Given the description of an element on the screen output the (x, y) to click on. 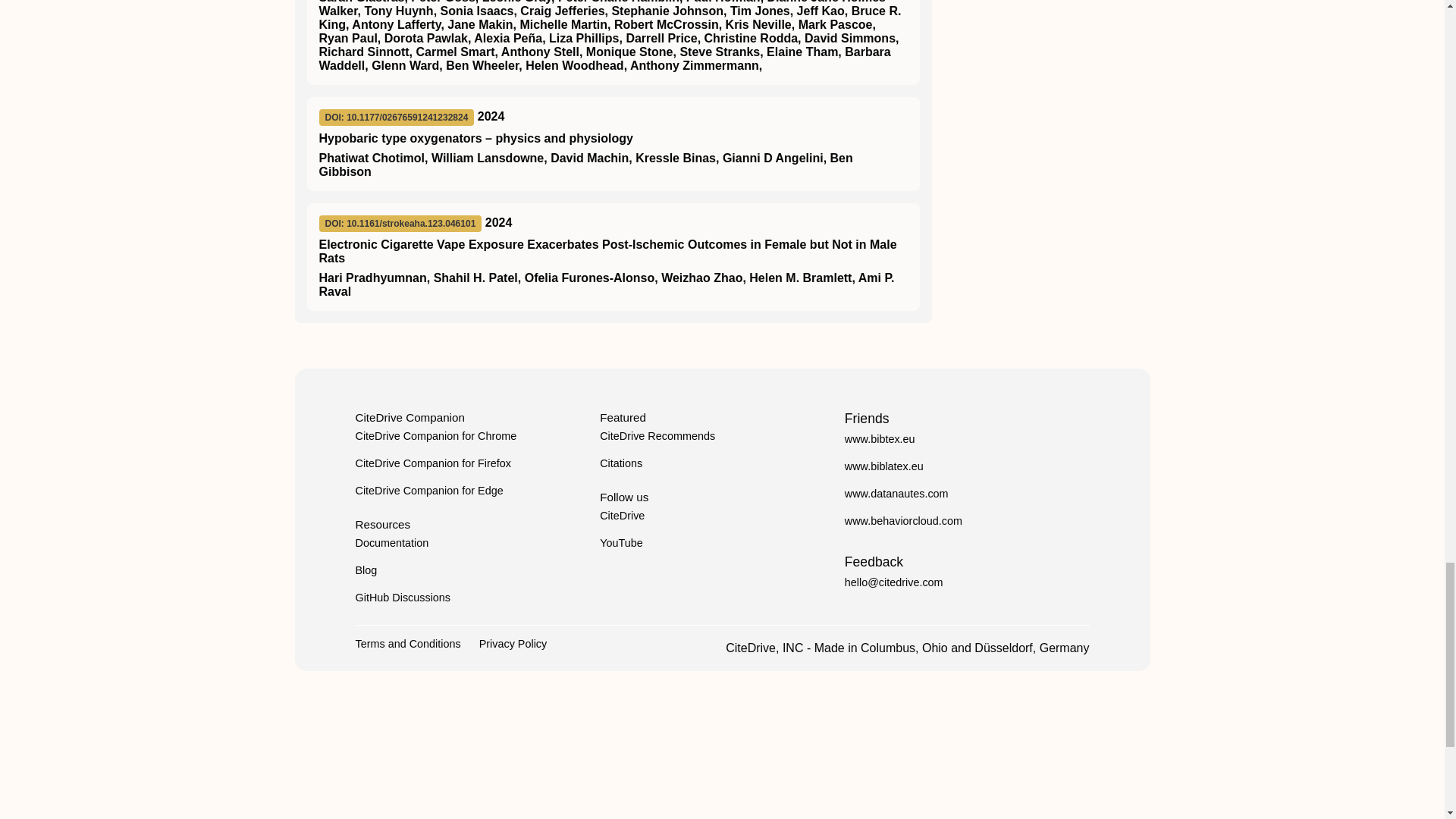
CiteDrive Companion for Edge (428, 490)
CiteDrive Companion for Firefox (433, 463)
CiteDrive (622, 515)
Documentation (391, 542)
CiteDrive Companion for Chrome (435, 435)
Blog (366, 570)
www.bibtex.eu (879, 439)
www.biblatex.eu (883, 466)
GitHub Discussions (402, 597)
Citations (620, 463)
